Given the description of an element on the screen output the (x, y) to click on. 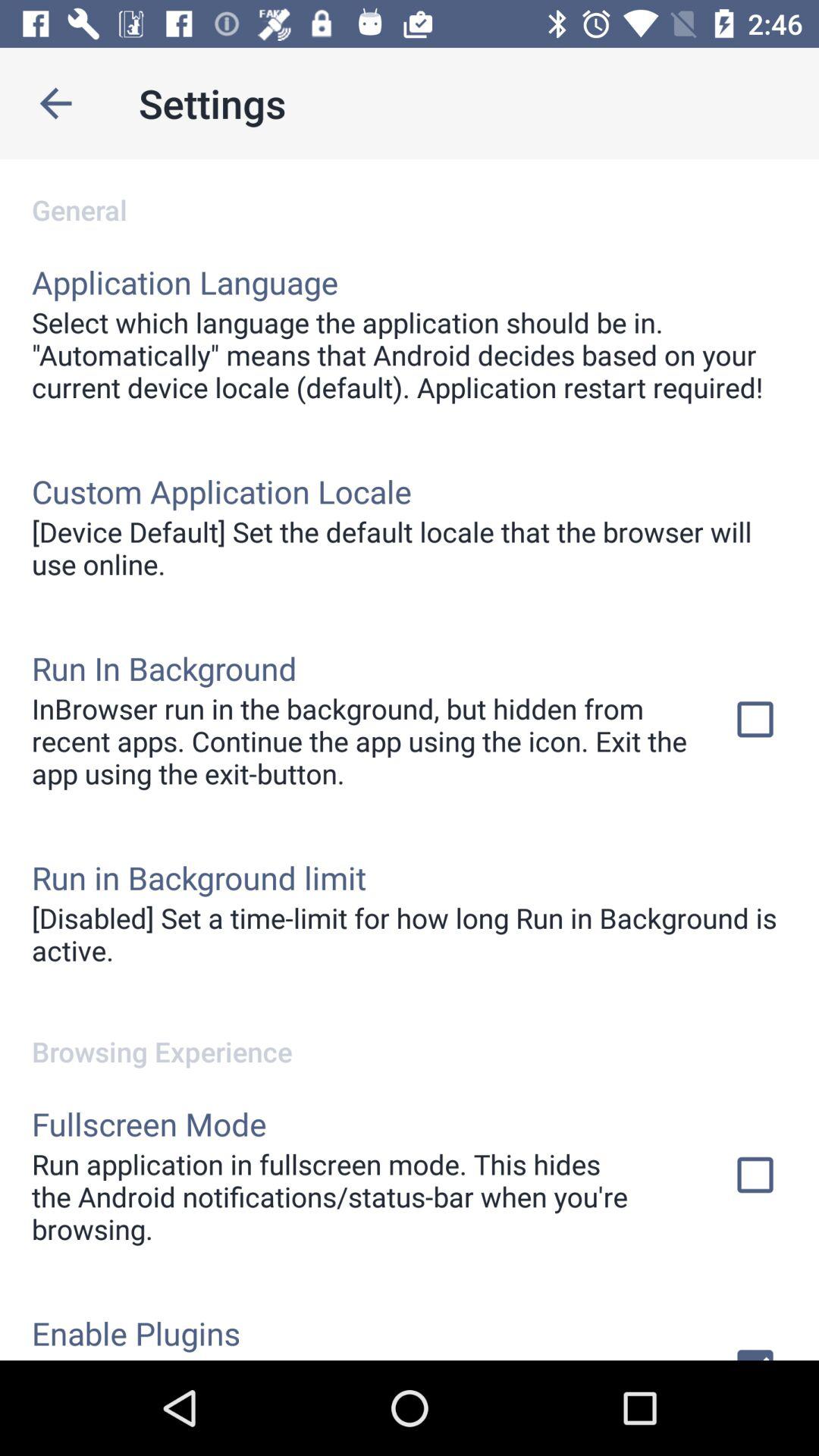
open the general (409, 193)
